Given the description of an element on the screen output the (x, y) to click on. 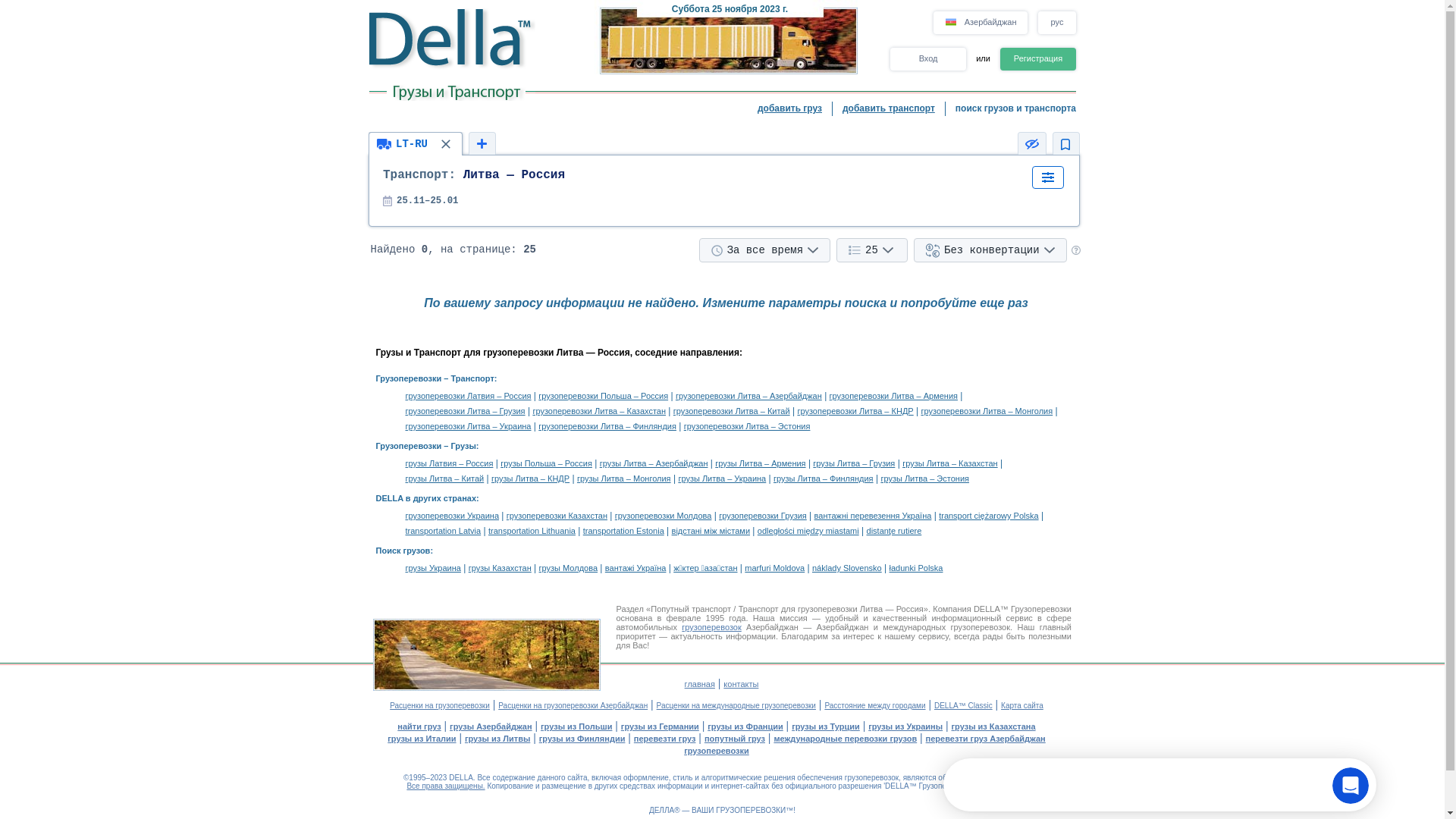
LT-RU  Element type: text (415, 143)
transportation Estonia Element type: text (623, 530)
transportation Lithuania Element type: text (531, 530)
transportation Latvia Element type: text (442, 530)
marfuri Moldova Element type: text (774, 567)
